Given the description of an element on the screen output the (x, y) to click on. 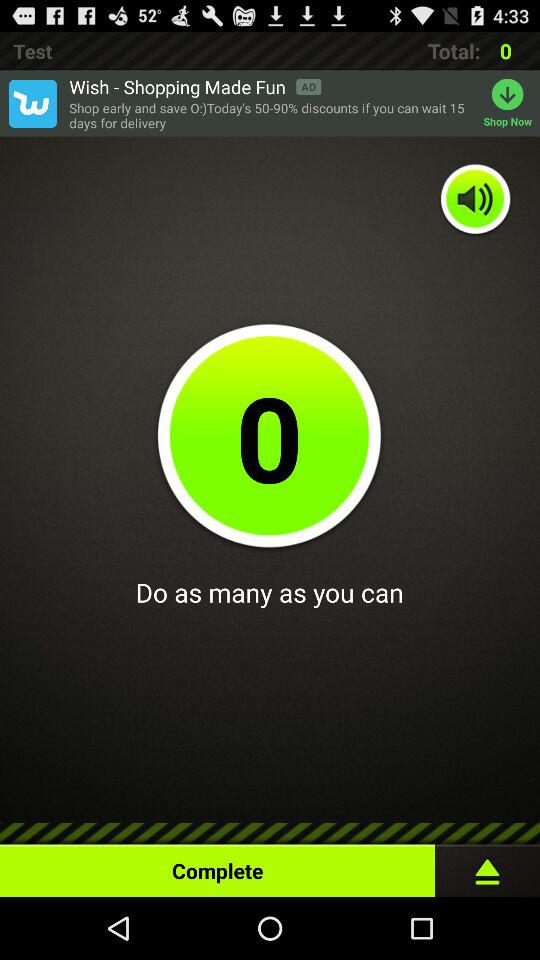
flip until the complete (217, 866)
